Given the description of an element on the screen output the (x, y) to click on. 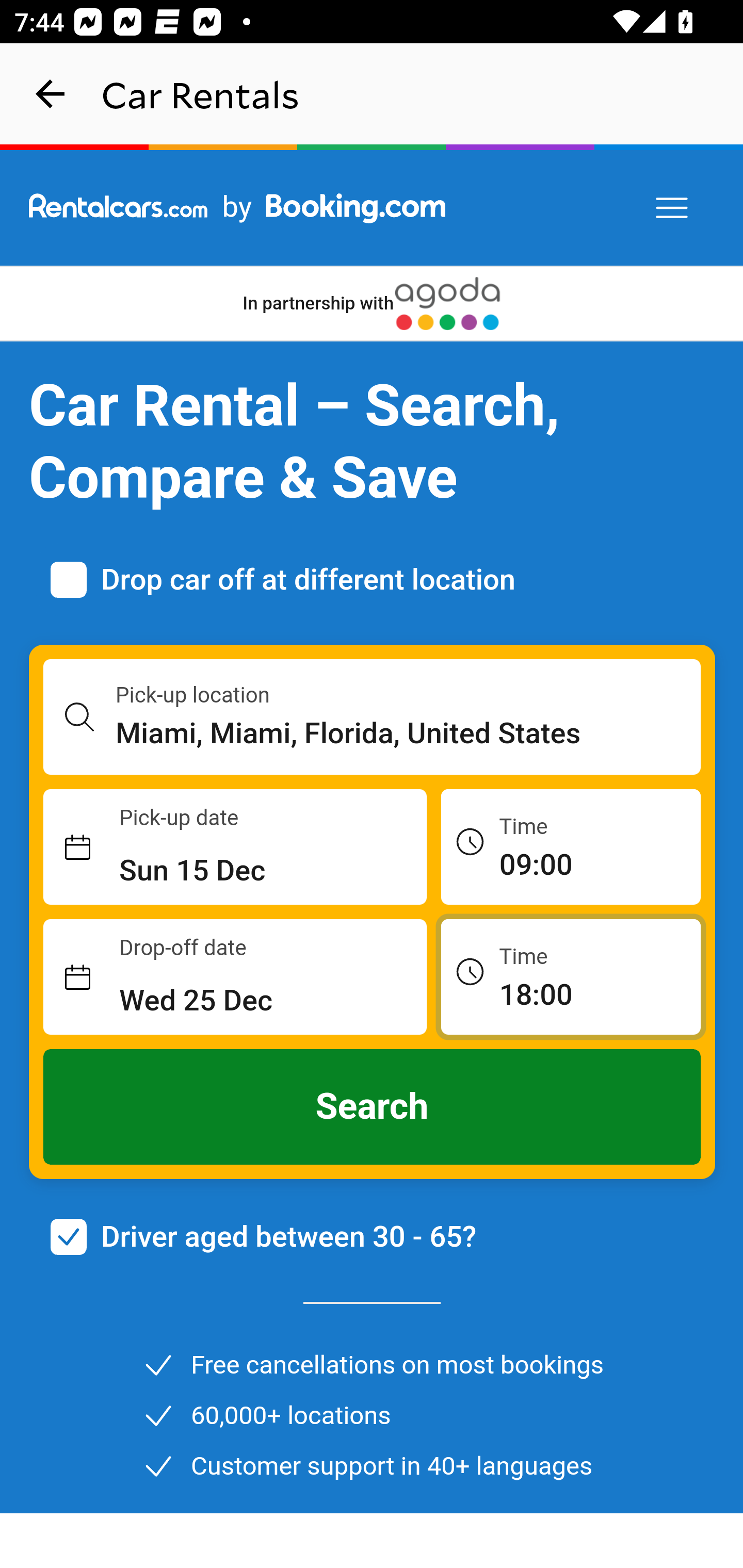
navigation_button (50, 93)
Menu (672, 208)
Miami, Miami, Florida, United States (408, 733)
Pick-up date Sun 15 Dec (235, 847)
09:00 (571, 845)
Drop-off date Wed 25 Dec (235, 977)
18:00 (571, 975)
Search (372, 1106)
